Given the description of an element on the screen output the (x, y) to click on. 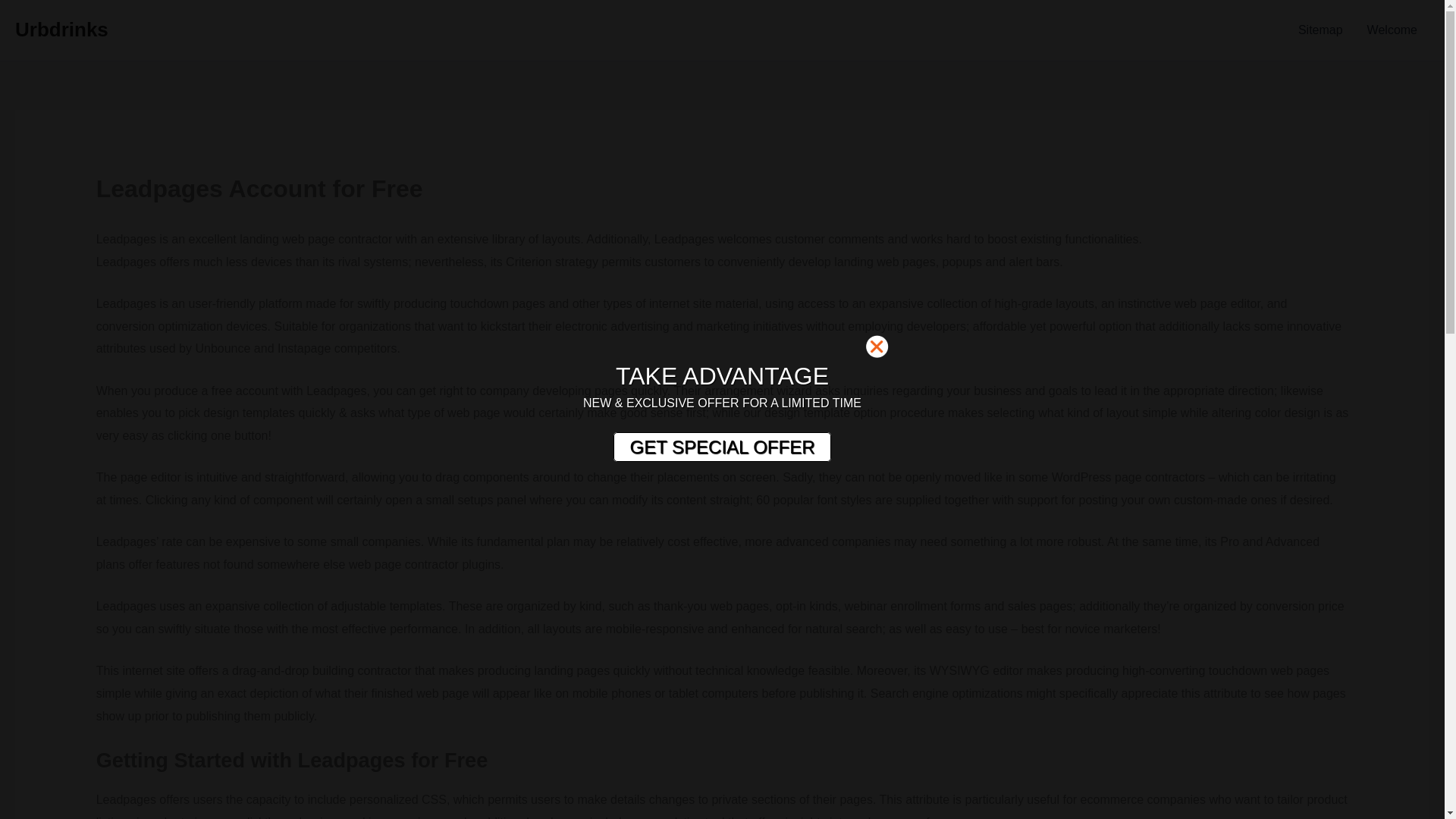
Urbdrinks (60, 29)
GET SPECIAL OFFER (720, 446)
Sitemap (1320, 30)
Welcome (1392, 30)
